Given the description of an element on the screen output the (x, y) to click on. 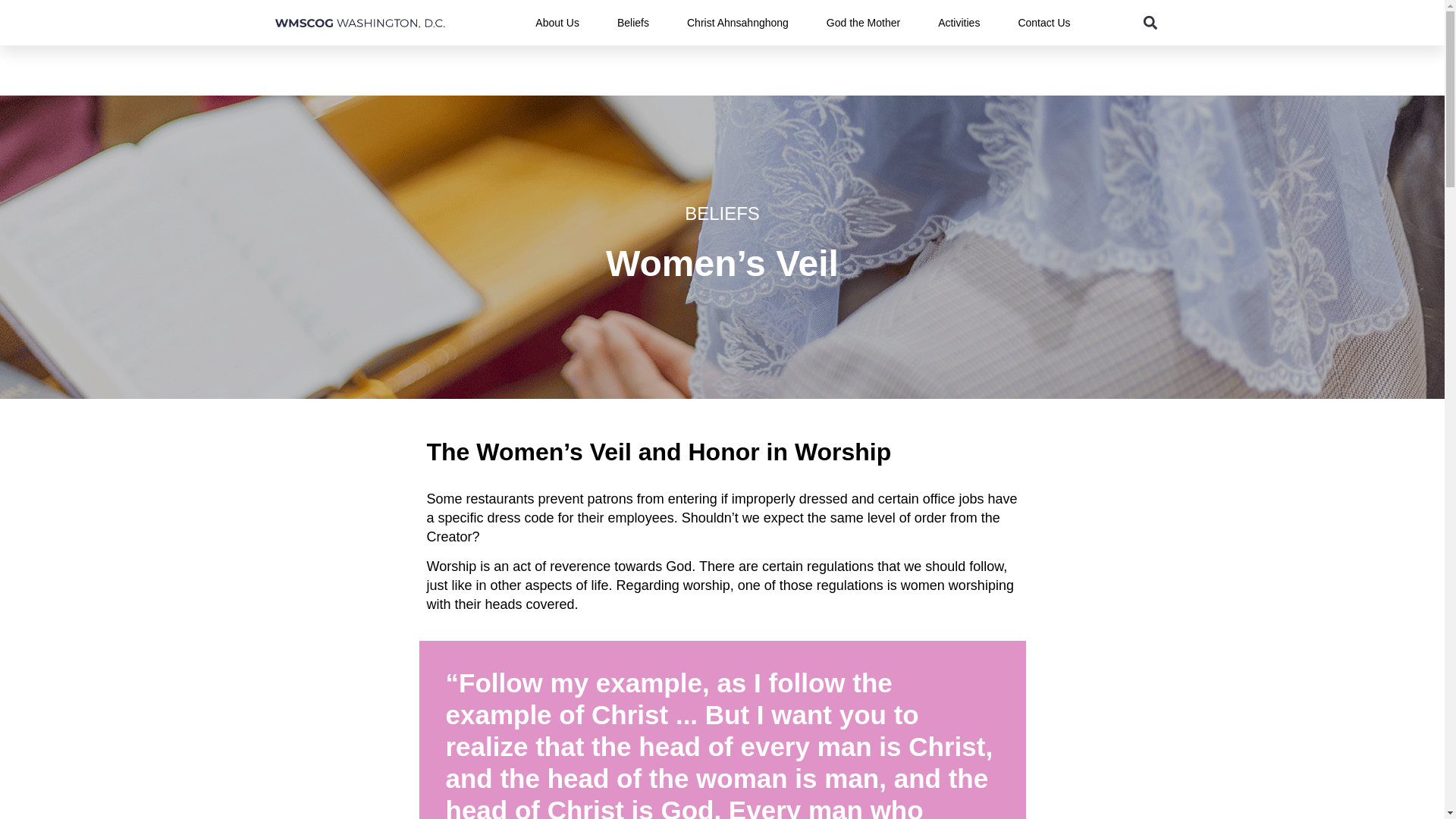
Christ Ahnsahnghong (738, 22)
God the Mother (863, 22)
About Us (557, 22)
Activities (958, 22)
Contact Us (1043, 22)
